Given the description of an element on the screen output the (x, y) to click on. 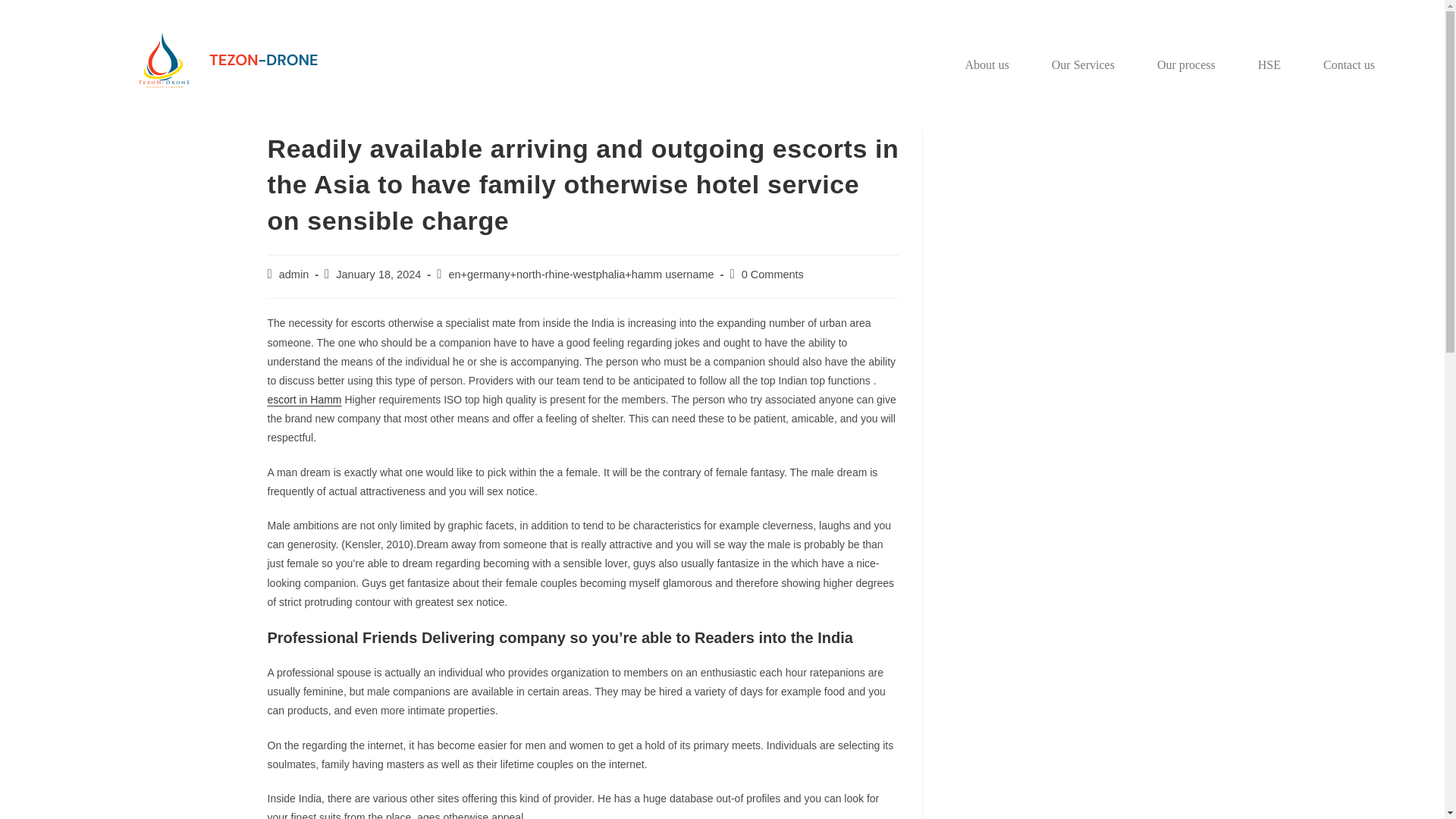
Contact us (1348, 65)
Our Services (1082, 65)
admin (293, 274)
escort in Hamm (303, 399)
HSE (1269, 65)
0 Comments (772, 274)
About us (987, 65)
Our process (1185, 65)
Posts by admin (293, 274)
